Given the description of an element on the screen output the (x, y) to click on. 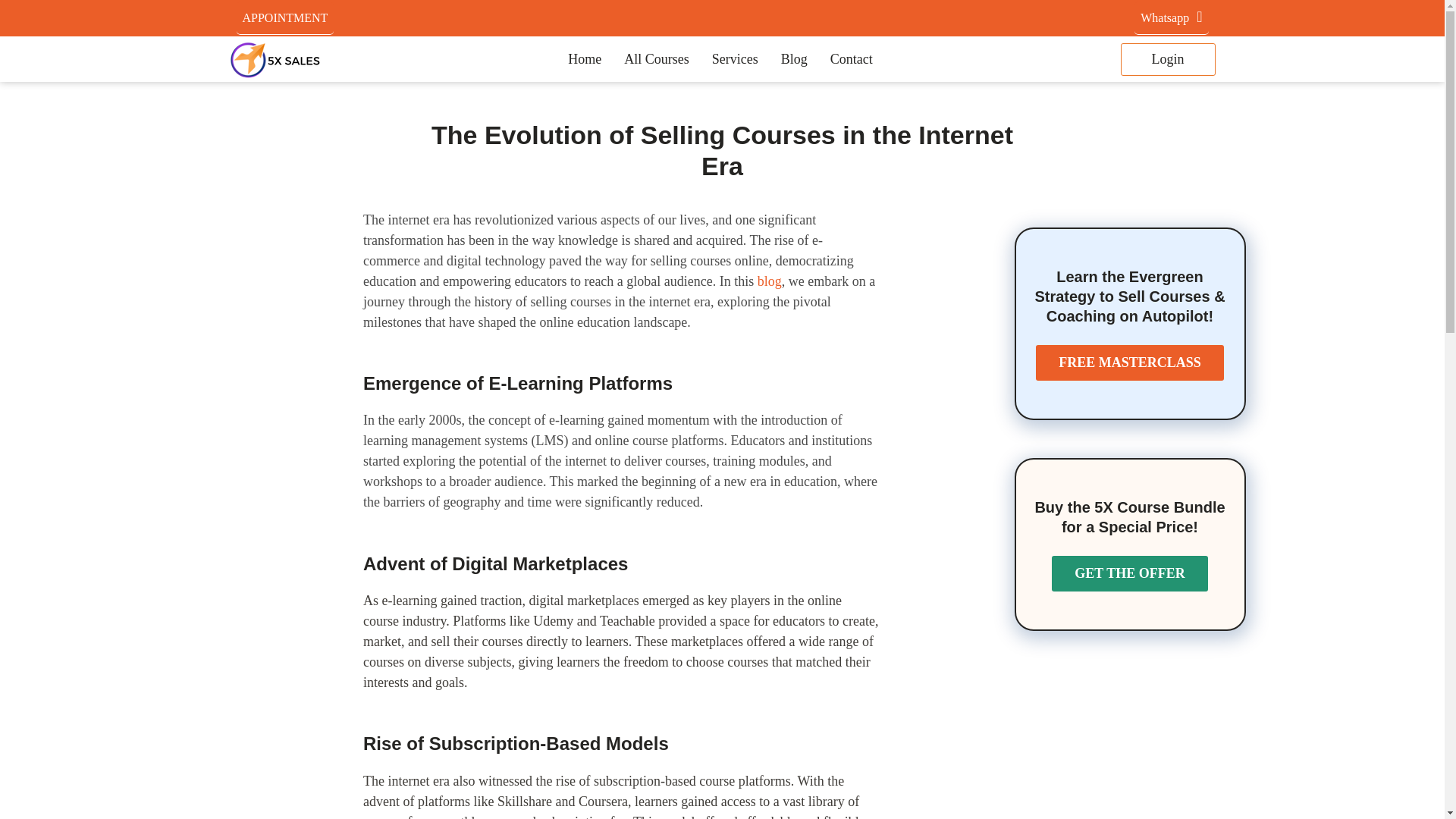
FREE MASTERCLASS (1129, 362)
All Courses (656, 59)
Whatsapp (1171, 18)
Blog (794, 59)
Send me the link (758, 352)
Login (1168, 58)
GET THE OFFER (1129, 573)
APPOINTMENT (284, 18)
blog (769, 281)
Services (735, 59)
Home (584, 59)
Contact (850, 59)
